Given the description of an element on the screen output the (x, y) to click on. 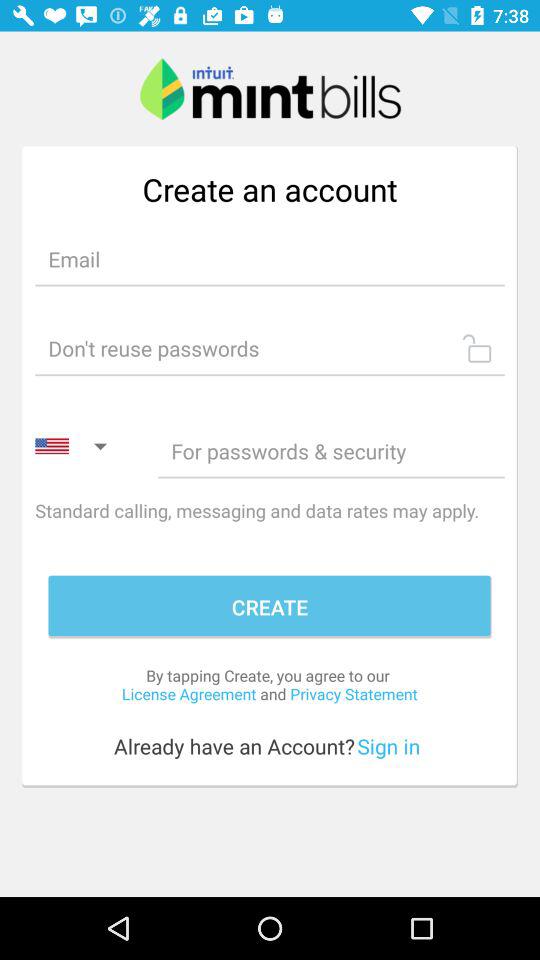
input email (269, 258)
